Given the description of an element on the screen output the (x, y) to click on. 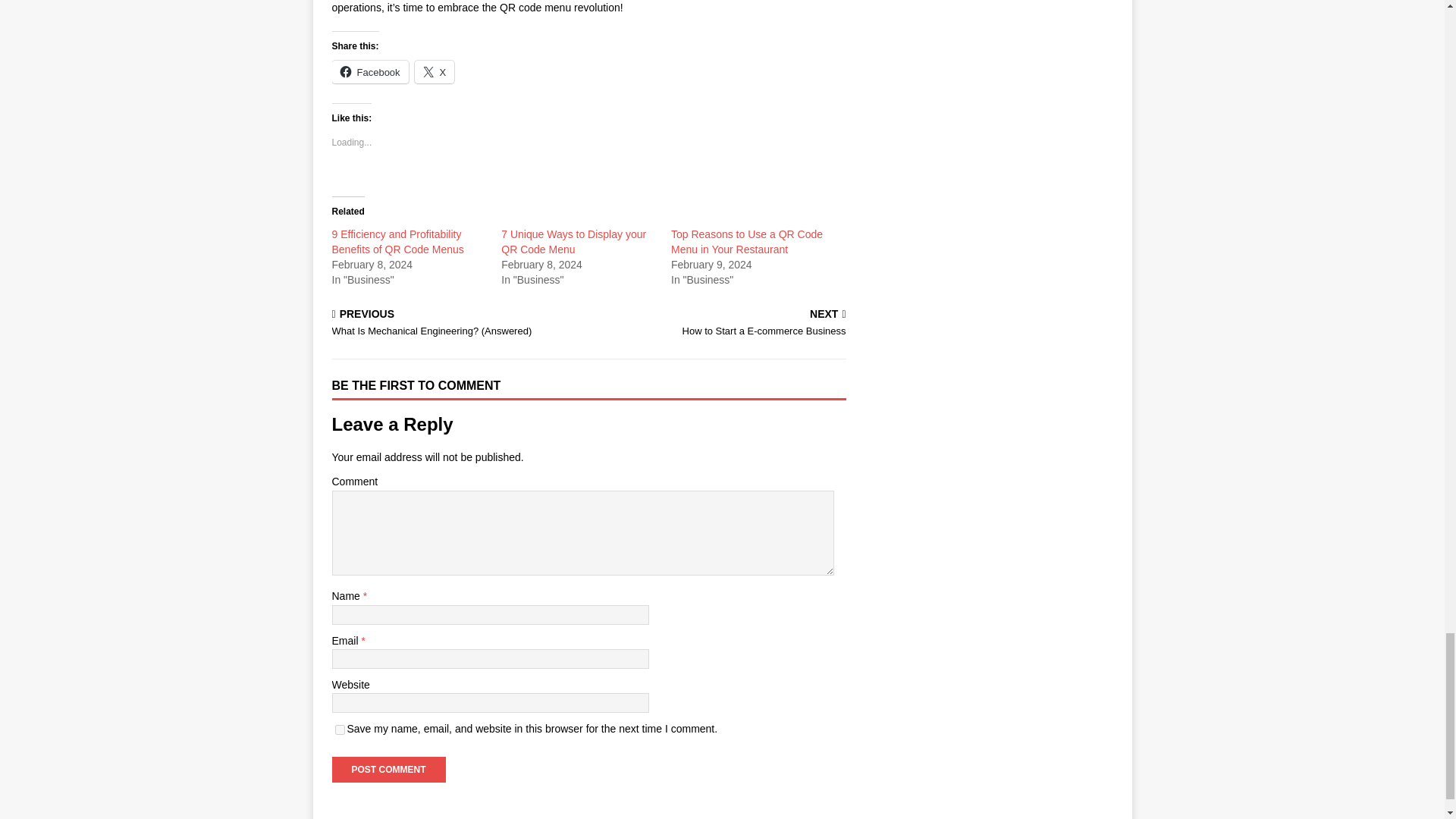
Facebook (370, 71)
Top Reasons to Use a QR Code Menu in Your Restaurant (746, 241)
yes (339, 729)
9 Efficiency and Profitability Benefits of QR Code Menus (397, 241)
9 Efficiency and Profitability Benefits of QR Code Menus (397, 241)
Click to share on Facebook (370, 71)
X (434, 71)
Post Comment (388, 769)
7 Unique Ways to Display your QR Code Menu (573, 241)
Click to share on X (434, 71)
